Given the description of an element on the screen output the (x, y) to click on. 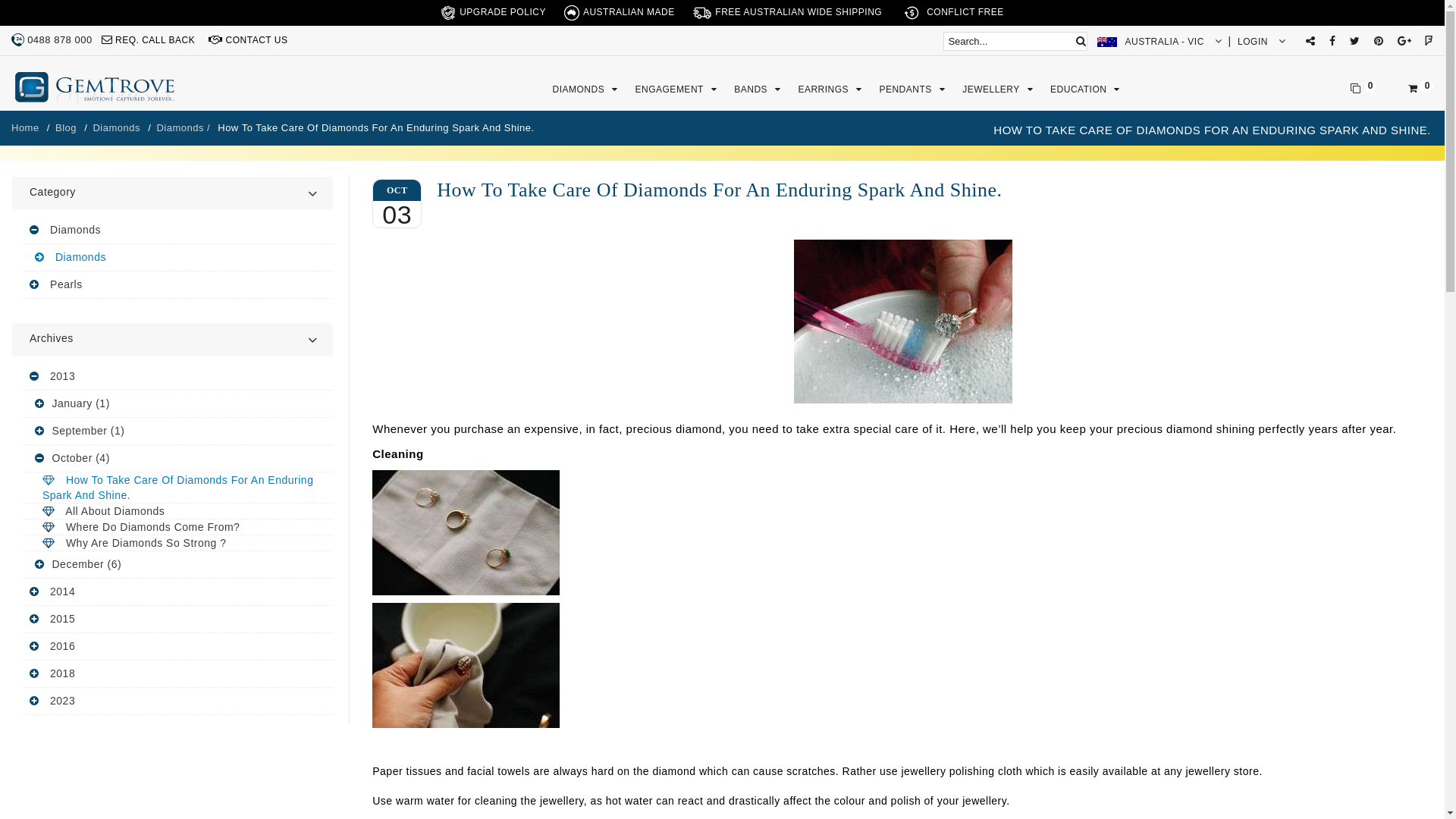
0 Element type: text (105, 7)
BANDS Element type: text (759, 89)
0 Element type: text (48, 7)
0 Element type: text (96, 7)
0 Element type: text (119, 7)
0 Element type: text (106, 7)
0 Element type: text (149, 7)
0 Element type: text (134, 7)
October (4) Element type: text (80, 457)
EDUCATION Element type: text (1086, 89)
CONFLICT FREE Element type: text (952, 12)
FREE AUSTRALIAN WIDE SHIPPING Element type: text (787, 12)
PENDANTS Element type: text (913, 89)
Diamonds / Element type: text (184, 127)
January (1) Element type: text (80, 403)
2023 Element type: text (61, 700)
0 Element type: text (92, 7)
0 Element type: text (105, 7)
0 Element type: text (78, 7)
2018 Element type: text (61, 673)
0 Element type: text (102, 7)
0 Element type: text (109, 7)
Diamonds Element type: text (80, 257)
0 Element type: text (121, 7)
Why Are Diamonds So Strong ? Element type: text (177, 543)
 CONTACT US Element type: text (247, 40)
All About Diamonds Element type: text (177, 511)
0 Element type: text (76, 7)
Pearls Element type: text (66, 284)
0 Element type: text (73, 7)
0 Element type: text (136, 7)
0 Element type: text (85, 7)
0 Element type: text (74, 7)
0 Element type: text (135, 7)
Diamonds Element type: text (117, 127)
Diamonds Element type: text (75, 229)
0 Element type: text (160, 7)
0 Element type: text (159, 7)
gemtrove Element type: hover (146, 88)
DIAMONDS Element type: text (586, 89)
0 Element type: text (123, 7)
Where Do Diamonds Come From? Element type: text (177, 527)
0 Element type: text (140, 7)
0 Element type: text (87, 7)
  AUSTRALIA - VIC Element type: text (1159, 41)
Blog Element type: text (66, 127)
0 Element type: text (142, 7)
0 Element type: text (74, 7)
0 Element type: text (145, 7)
0 Element type: text (116, 7)
0 Element type: text (107, 7)
2016 Element type: text (61, 646)
2014 Element type: text (61, 591)
EARRINGS Element type: text (831, 89)
0 Element type: text (106, 7)
Diamonds Element type: text (177, 257)
Where Do Diamonds Come From? Element type: text (152, 526)
0 Element type: text (142, 7)
2015 Element type: text (61, 618)
ENGAGEMENT Element type: text (678, 89)
0 Element type: text (57, 7)
0 Element type: text (89, 7)
December (6) Element type: text (86, 564)
0 Element type: text (82, 7)
  0 Element type: text (1420, 89)
0 Element type: text (168, 15)
0 Element type: text (156, 7)
0 Element type: text (114, 7)
0 Element type: text (86, 7)
0 Element type: text (130, 7)
0 Element type: text (104, 7)
0 Element type: text (134, 7)
0 Element type: text (65, 7)
0 Element type: text (103, 7)
AUSTRALIAN MADE Element type: text (619, 12)
0 Element type: text (112, 7)
UPGRADE POLICY Element type: text (493, 12)
0 Element type: text (117, 7)
0 Element type: text (88, 7)
0 Element type: text (114, 7)
Home Element type: text (26, 127)
September (1) Element type: text (87, 430)
0 Element type: text (154, 7)
0 Element type: text (89, 7)
All About Diamonds Element type: text (114, 511)
0 Element type: text (84, 7)
0 Element type: text (164, 7)
0 Element type: text (93, 7)
0 Element type: text (110, 7)
0 Element type: text (148, 7)
0 Element type: text (144, 7)
Why Are Diamonds So Strong ? Element type: text (145, 542)
  0 Element type: text (1363, 89)
 REQ. CALL BACK Element type: text (148, 40)
0 Element type: text (67, 7)
0 Element type: text (42, 7)
2013 Element type: text (61, 376)
0 Element type: text (101, 7)
0 Element type: text (57, 7)
0 Element type: text (122, 7)
0 Element type: text (128, 7)
LOGIN Element type: text (1261, 41)
JEWELLERY Element type: text (999, 89)
0 Element type: text (147, 7)
